Given the description of an element on the screen output the (x, y) to click on. 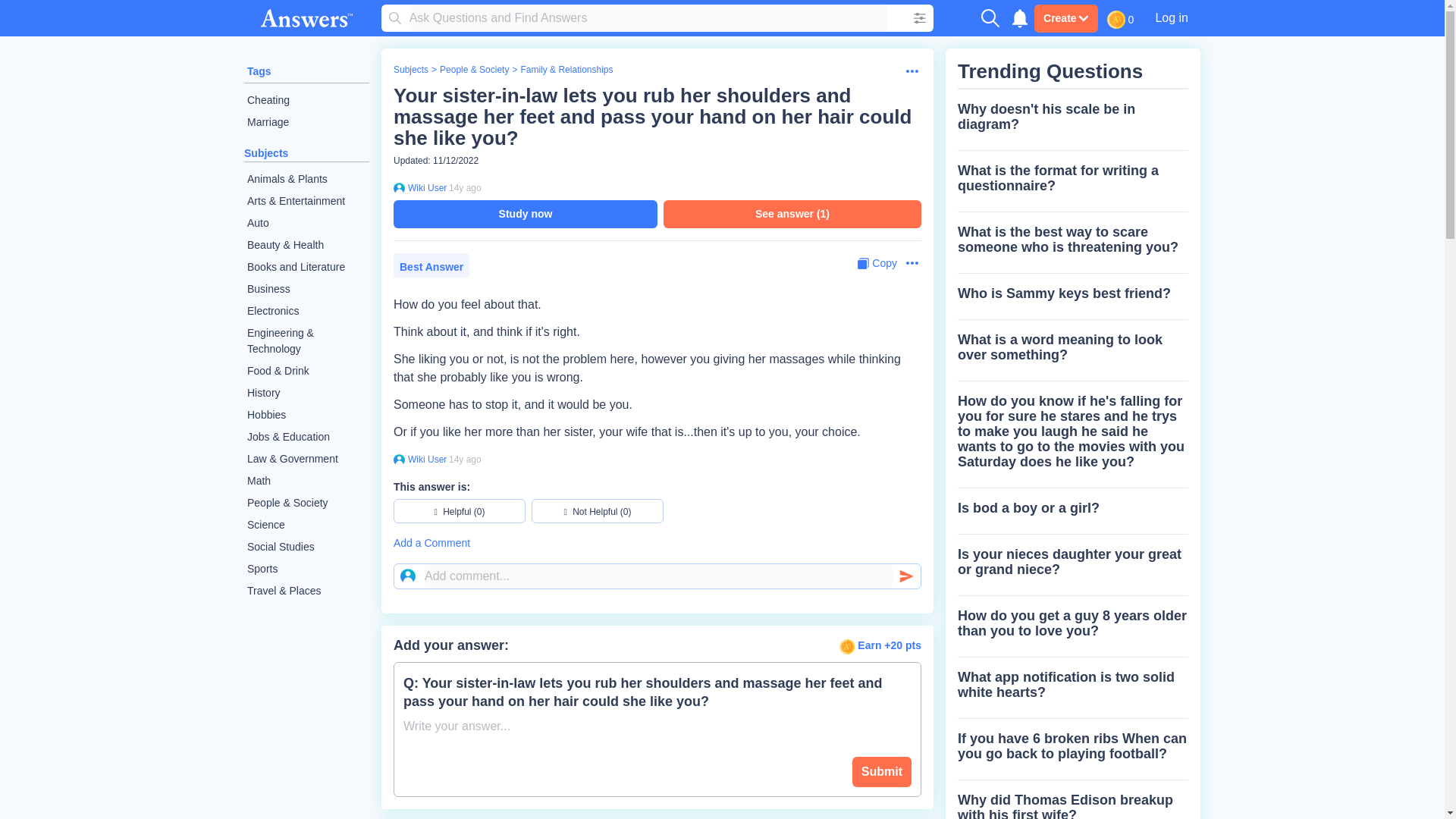
Marriage (306, 122)
Hobbies (306, 414)
Science (306, 525)
Auto (306, 223)
2010-05-03 16:16:19 (464, 187)
Subjects (410, 69)
Sports (306, 568)
Math (306, 481)
Books and Literature (306, 267)
Business (306, 289)
